Given the description of an element on the screen output the (x, y) to click on. 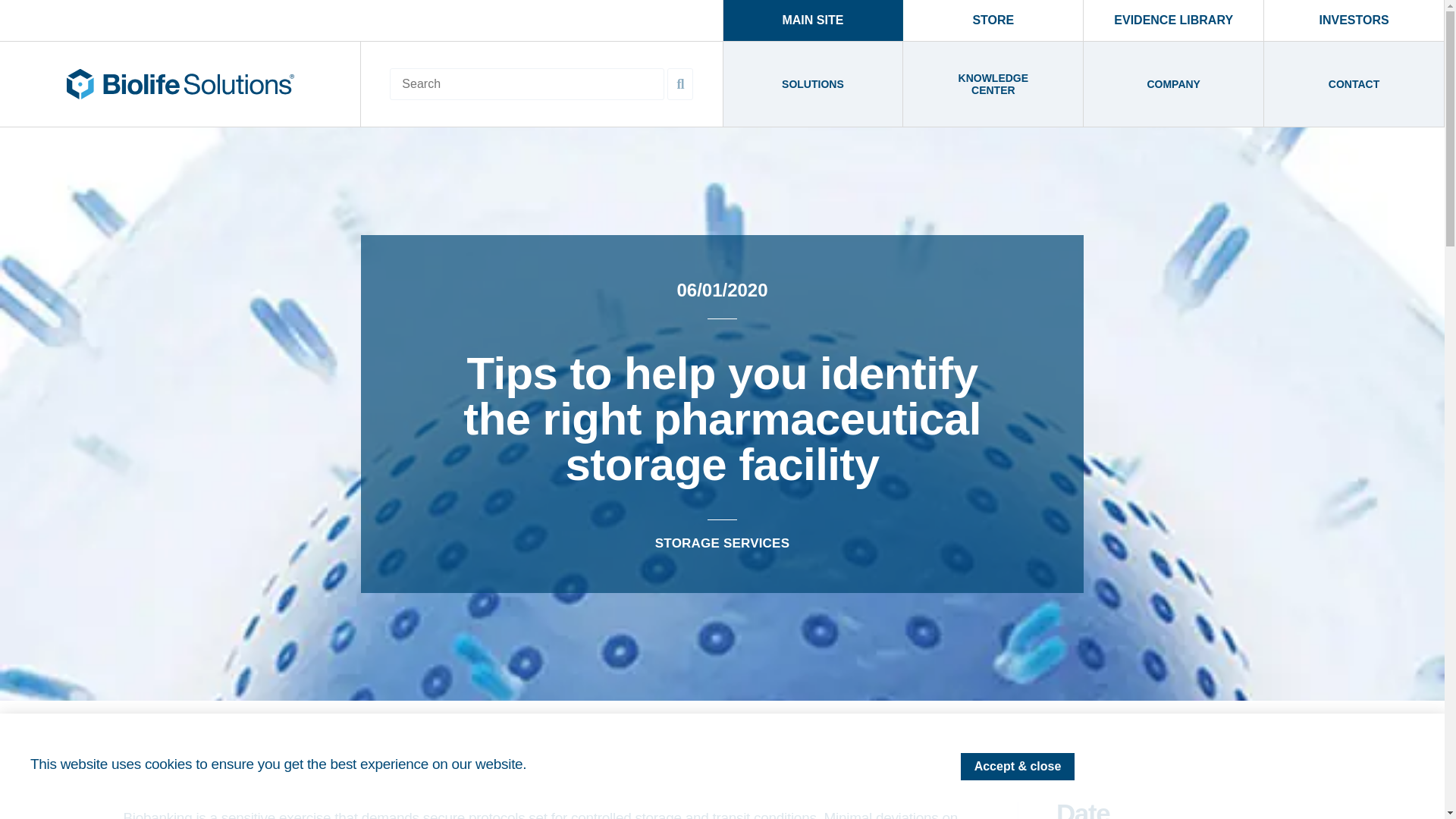
STORE (992, 20)
MAIN SITE (813, 20)
EVIDENCE LIBRARY (1173, 20)
SOLUTIONS (813, 83)
